Given the description of an element on the screen output the (x, y) to click on. 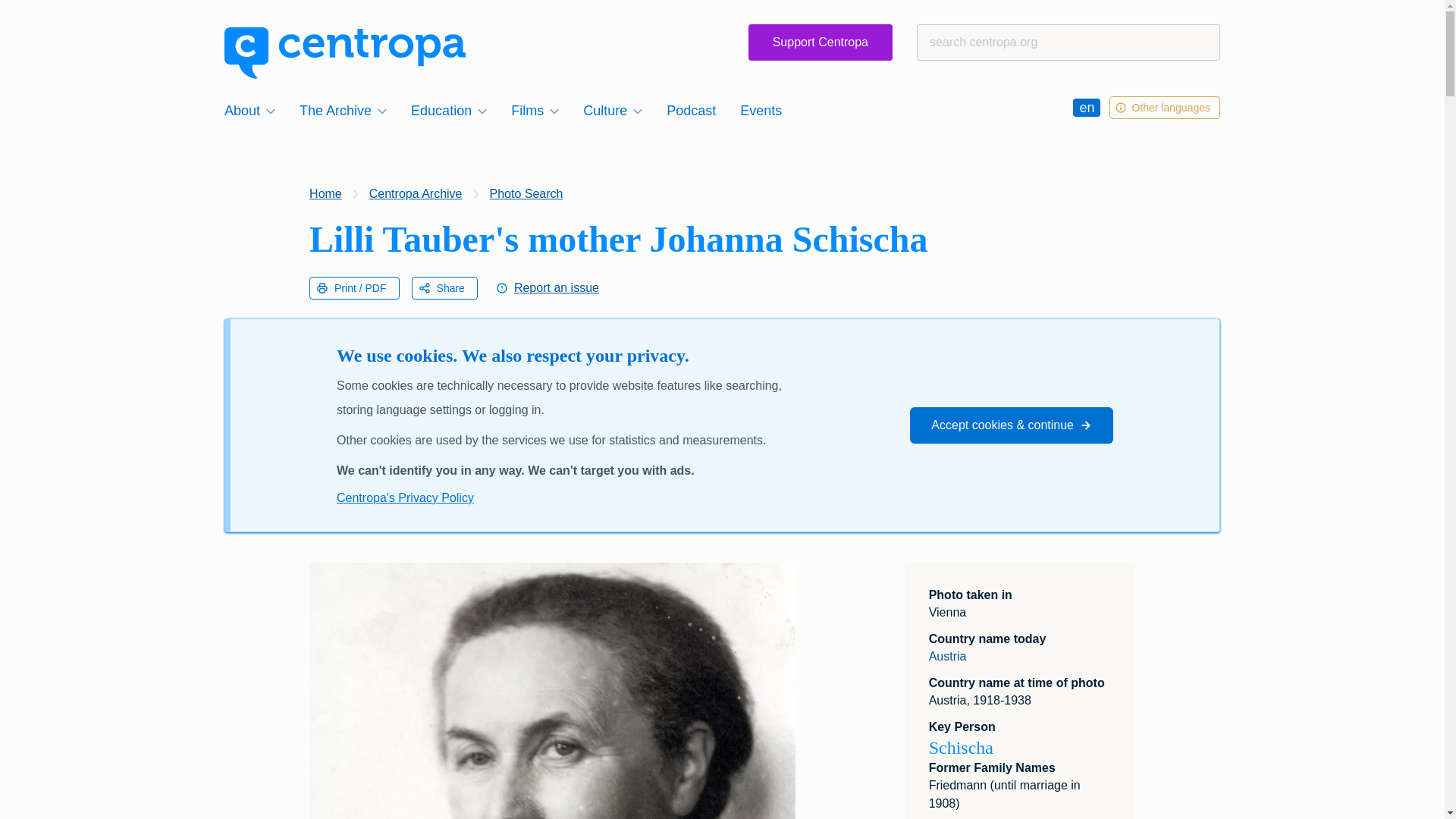
About (249, 110)
Films (534, 110)
Support Centropa (820, 42)
Events (760, 110)
Culture (611, 110)
Support Centropa (820, 42)
Search (40, 18)
Education (448, 110)
The Archive (343, 110)
Podcast (691, 110)
